Given the description of an element on the screen output the (x, y) to click on. 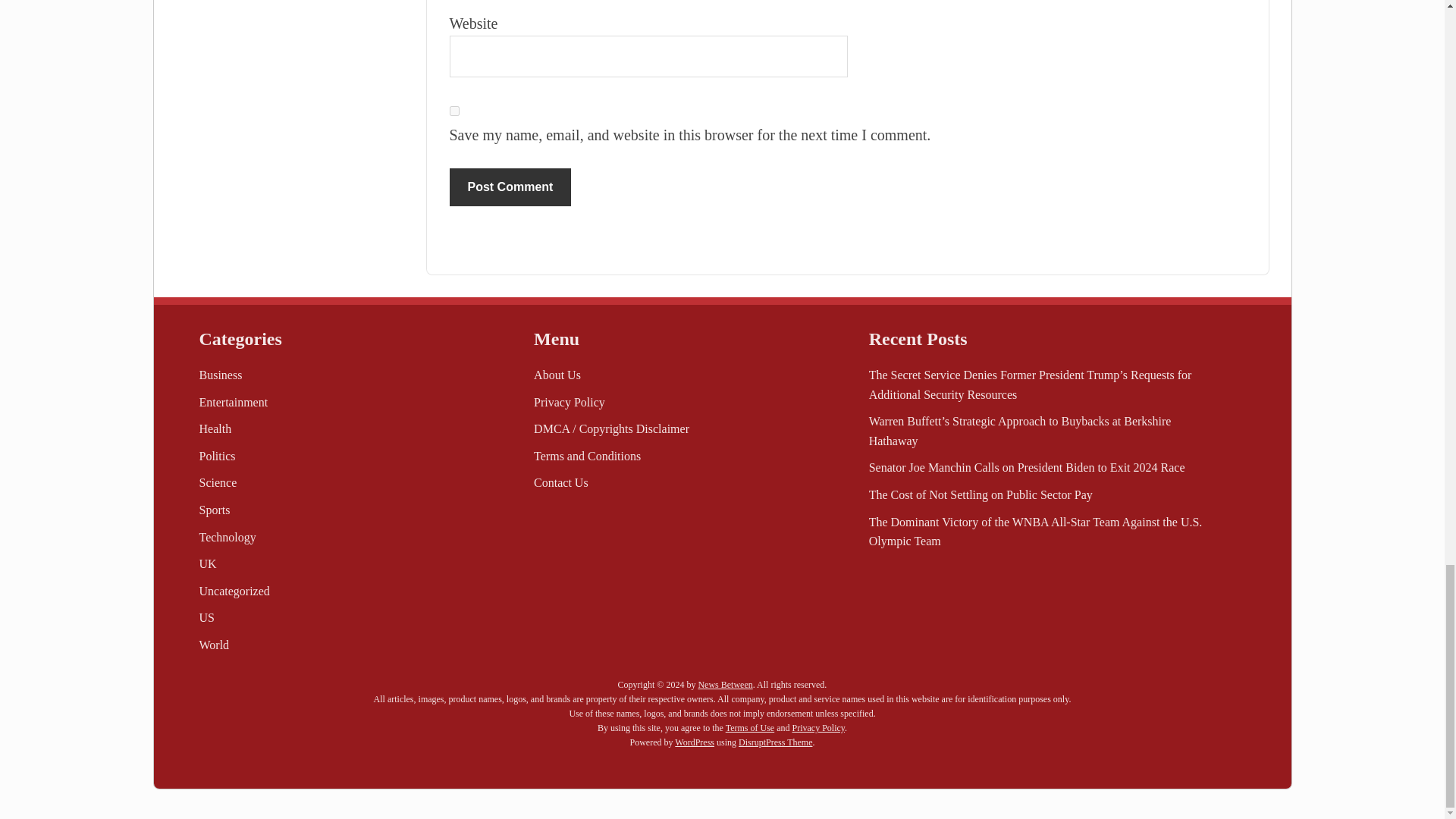
yes (453, 111)
Post Comment (509, 187)
